Given the description of an element on the screen output the (x, y) to click on. 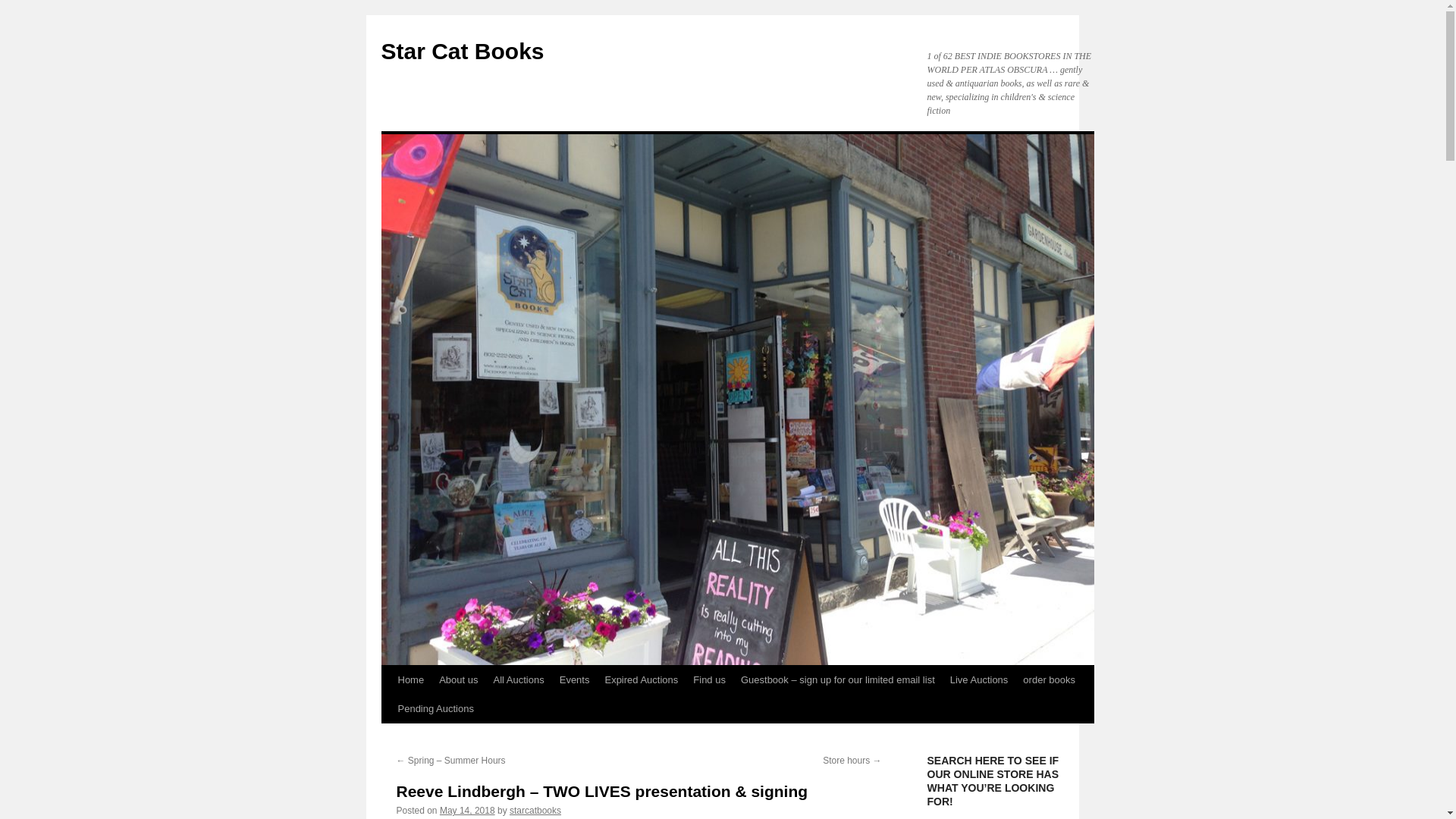
order books (1048, 679)
Star Cat Books (461, 50)
View all posts by starcatbooks (534, 810)
May 14, 2018 (467, 810)
Home (410, 679)
About us (457, 679)
Find us (709, 679)
Skip to content (388, 708)
Events (573, 679)
12:57 pm (467, 810)
Pending Auctions (435, 708)
All Auctions (518, 679)
Live Auctions (979, 679)
starcatbooks (534, 810)
Skip to content (388, 708)
